Given the description of an element on the screen output the (x, y) to click on. 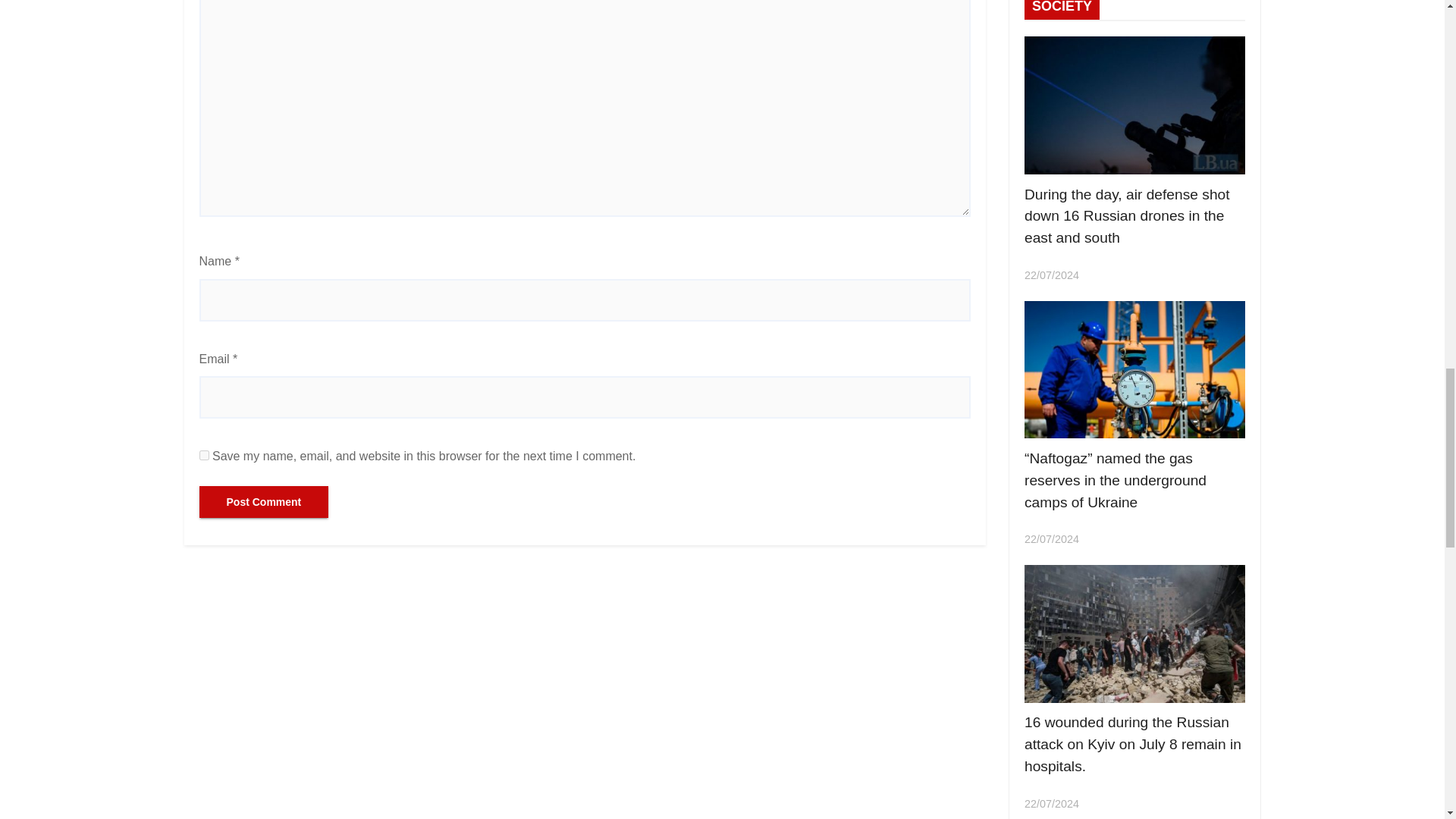
yes (203, 455)
Post Comment (263, 501)
